Given the description of an element on the screen output the (x, y) to click on. 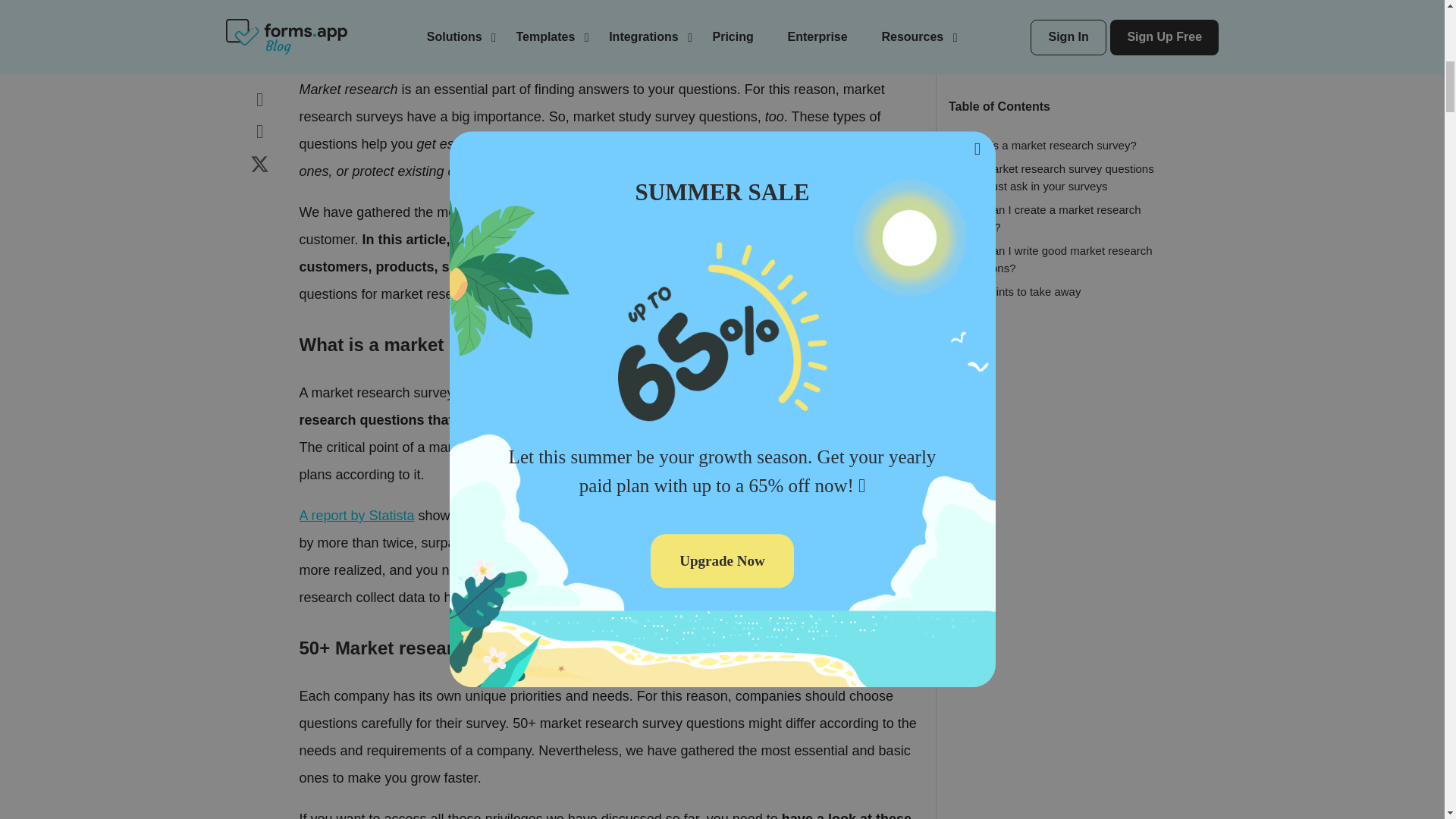
What is a market research survey? (1048, 123)
How can I write good market research questions? (1056, 237)
Key points to take away (1020, 269)
How can I create a market research survey? (1050, 196)
